Given the description of an element on the screen output the (x, y) to click on. 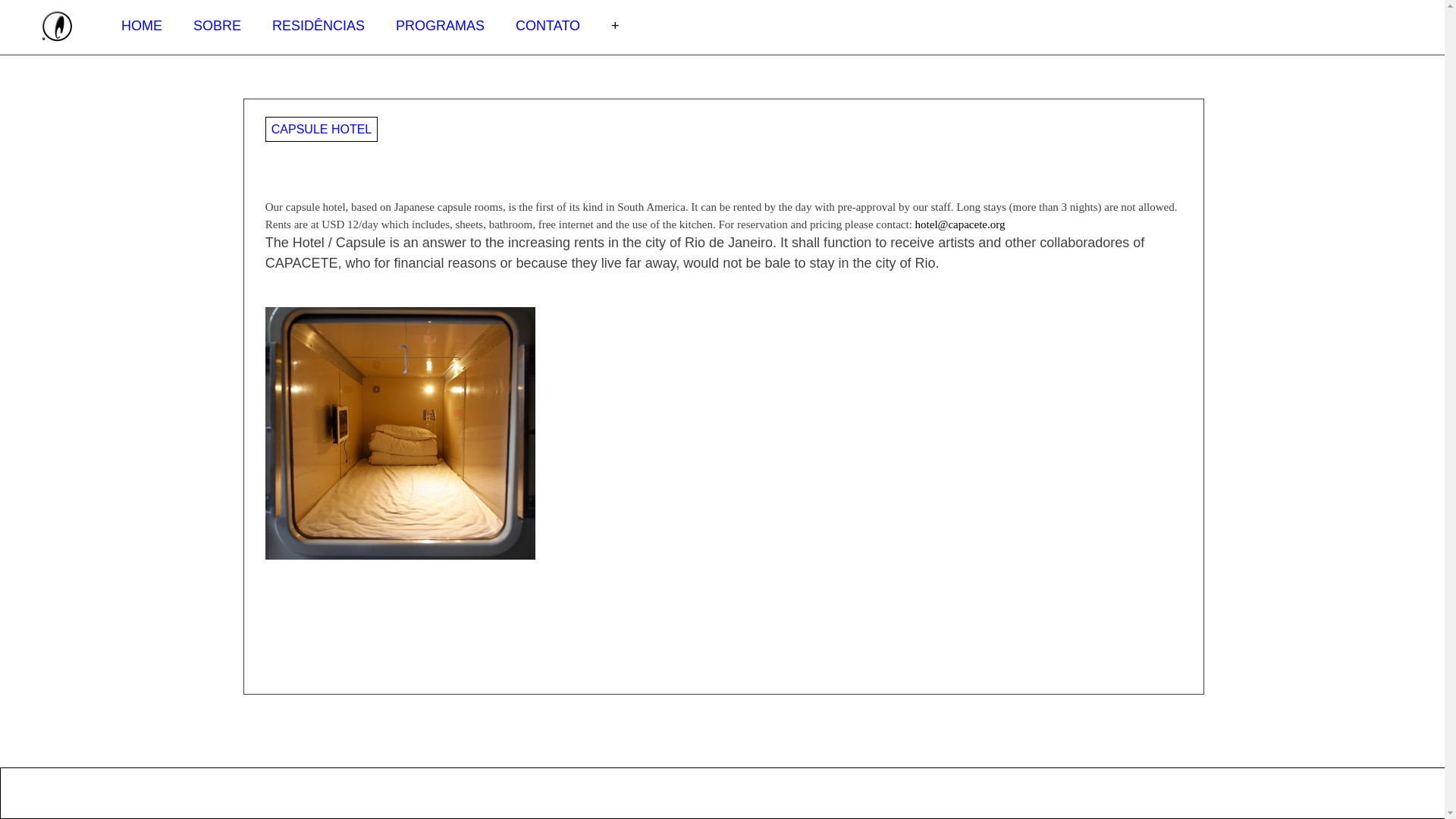
HOME (140, 24)
CAPSULE HOTEL (320, 129)
SOBRE (217, 24)
PROGRAMAS (440, 24)
CONTATO (547, 24)
